Given the description of an element on the screen output the (x, y) to click on. 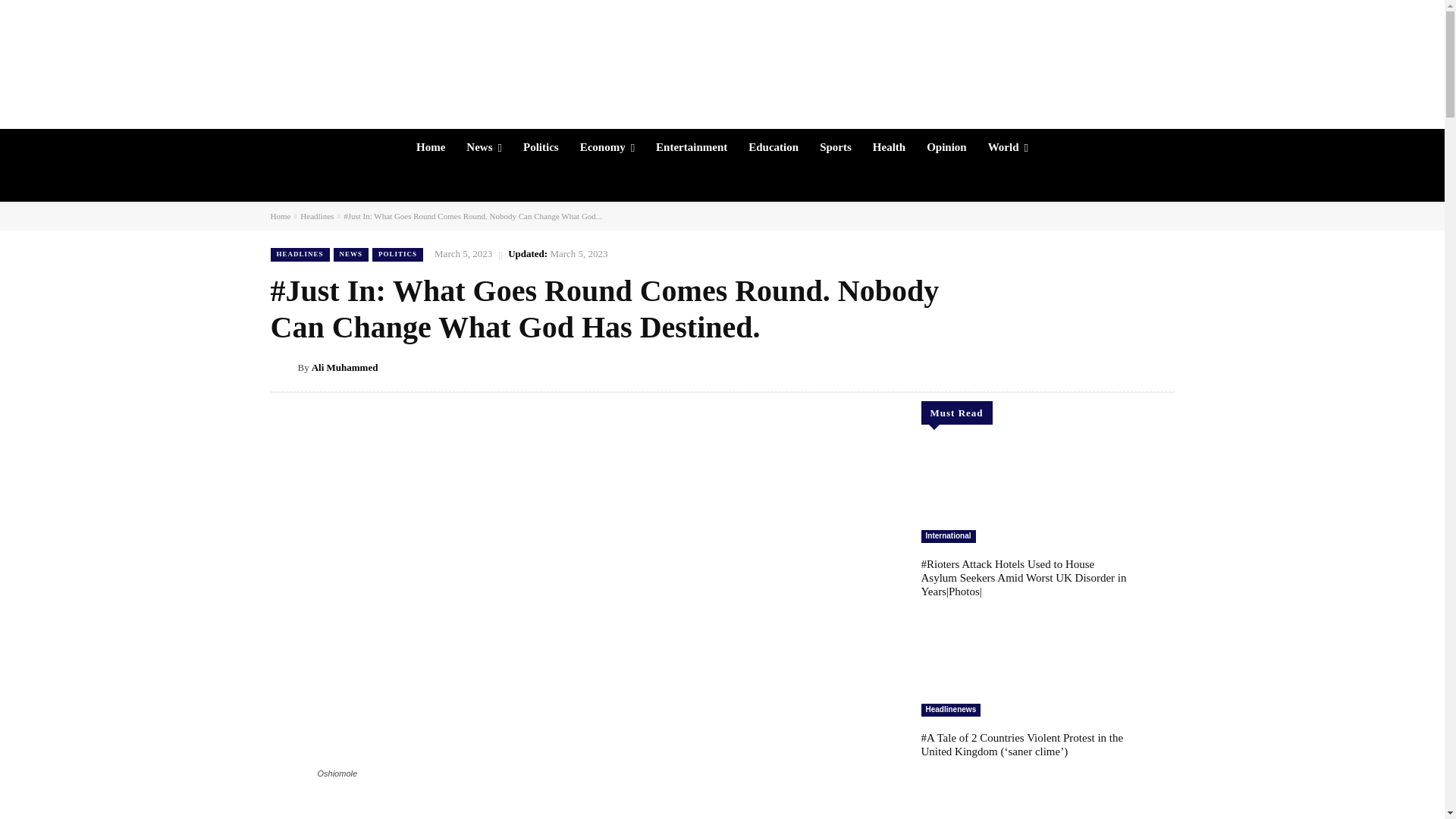
Health (888, 146)
World (1007, 146)
Economy (607, 146)
News (483, 146)
Entertainment (691, 146)
Opinion (945, 146)
Sports (835, 146)
Education (773, 146)
Politics (540, 146)
Ali Muhammed (283, 367)
View all posts in Headlines (316, 215)
Home (430, 146)
